Given the description of an element on the screen output the (x, y) to click on. 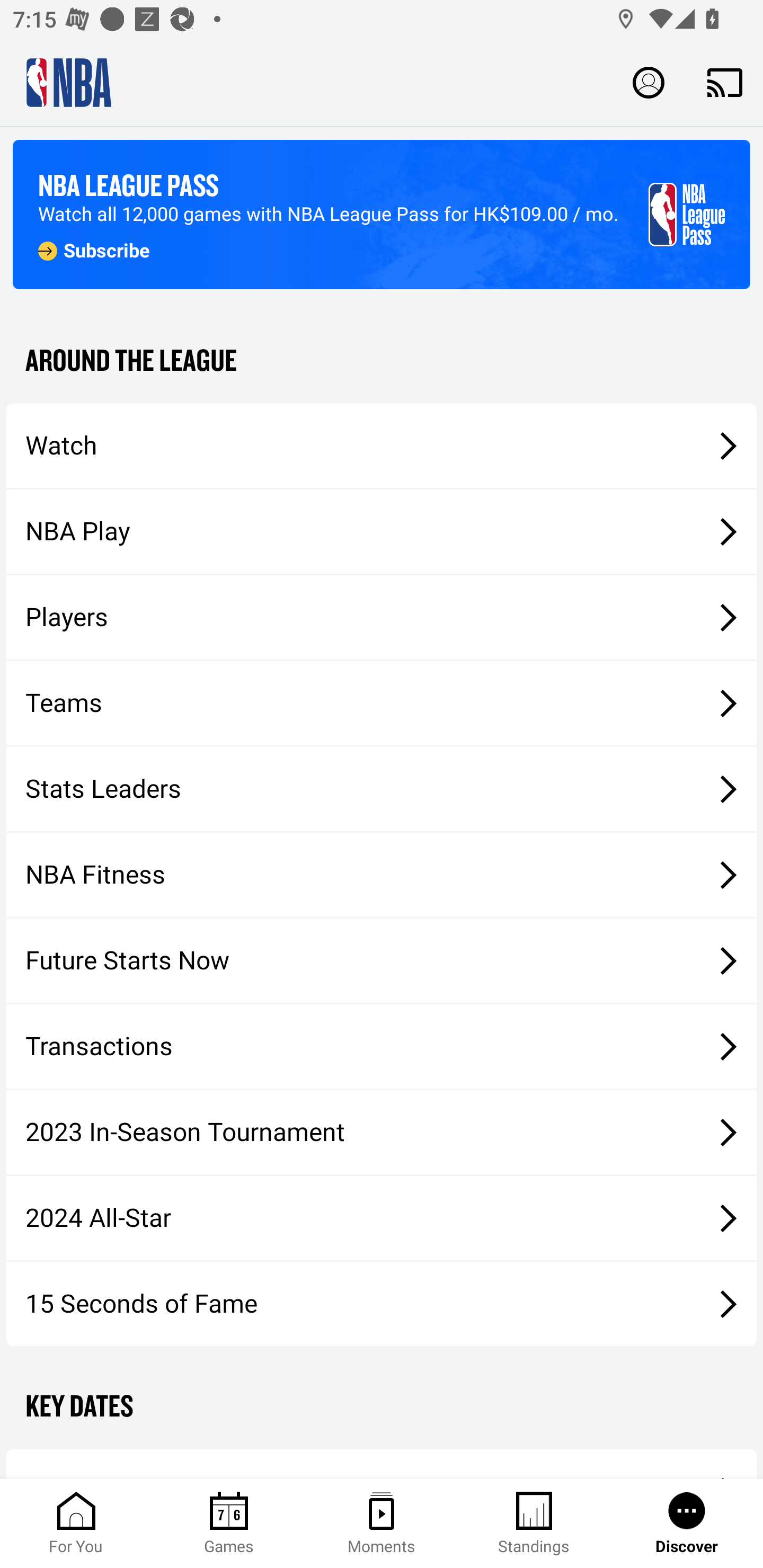
Cast. Disconnected (724, 82)
Profile (648, 81)
Watch (381, 444)
NBA Play (381, 531)
Players (381, 617)
Teams (381, 702)
Stats Leaders (381, 788)
NBA Fitness (381, 874)
Future Starts Now (381, 960)
Transactions (381, 1046)
2023 In-Season Tournament (381, 1131)
2024 All-Star (381, 1218)
15 Seconds of Fame (381, 1303)
For You (76, 1523)
Games (228, 1523)
Moments (381, 1523)
Standings (533, 1523)
